Given the description of an element on the screen output the (x, y) to click on. 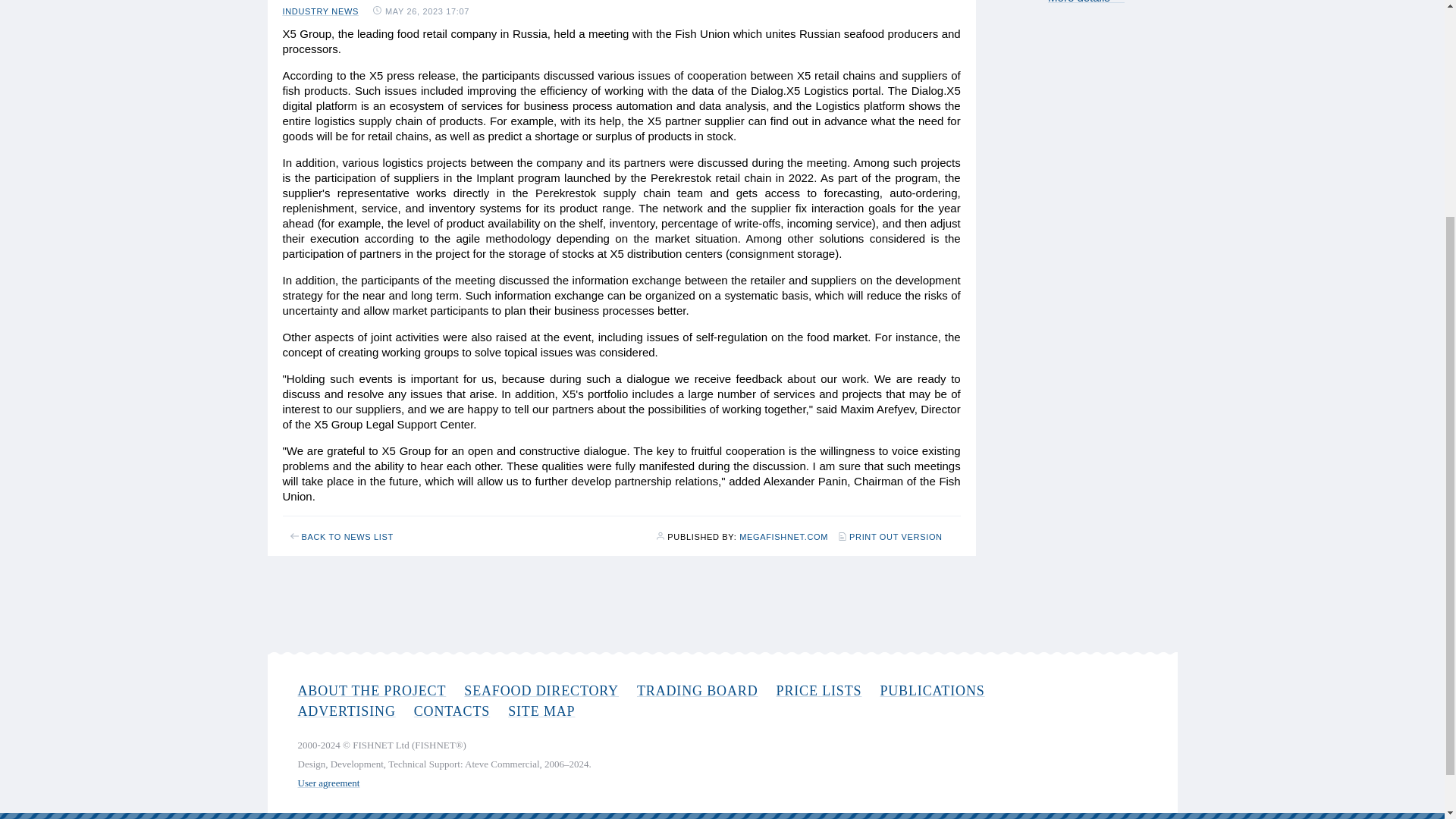
SEAFOOD DIRECTORY (541, 690)
ABOUT THE PROJECT (371, 690)
BACK TO NEWS LIST (341, 536)
PRINT OUT VERSION (890, 535)
MEGAFISHNET.COM (783, 536)
TRADING BOARD (697, 690)
INDUSTRY NEWS (320, 10)
FISHNET.RU (783, 536)
